Given the description of an element on the screen output the (x, y) to click on. 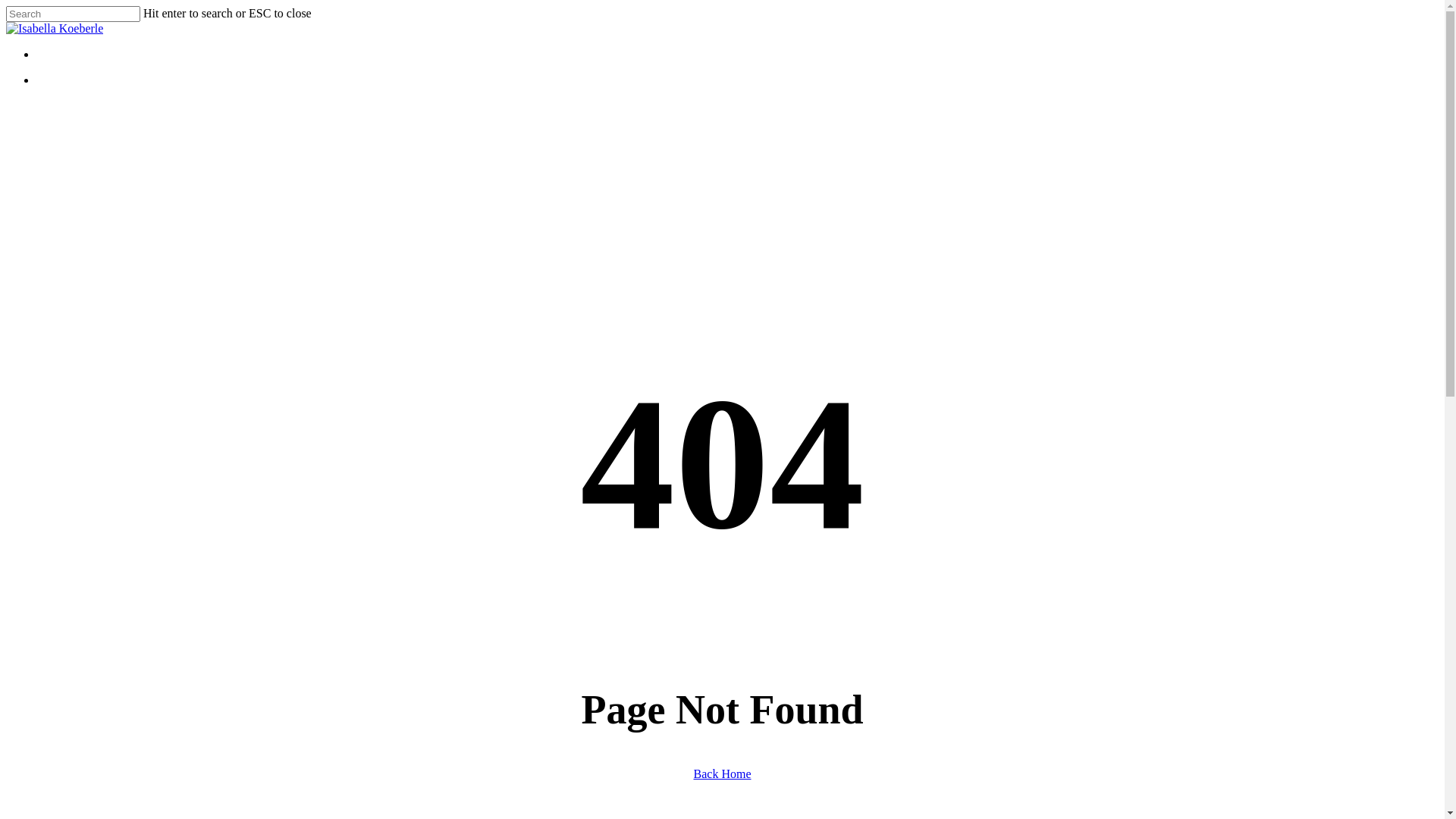
Back Home Element type: text (721, 773)
Skip to main content Element type: text (5, 5)
